Given the description of an element on the screen output the (x, y) to click on. 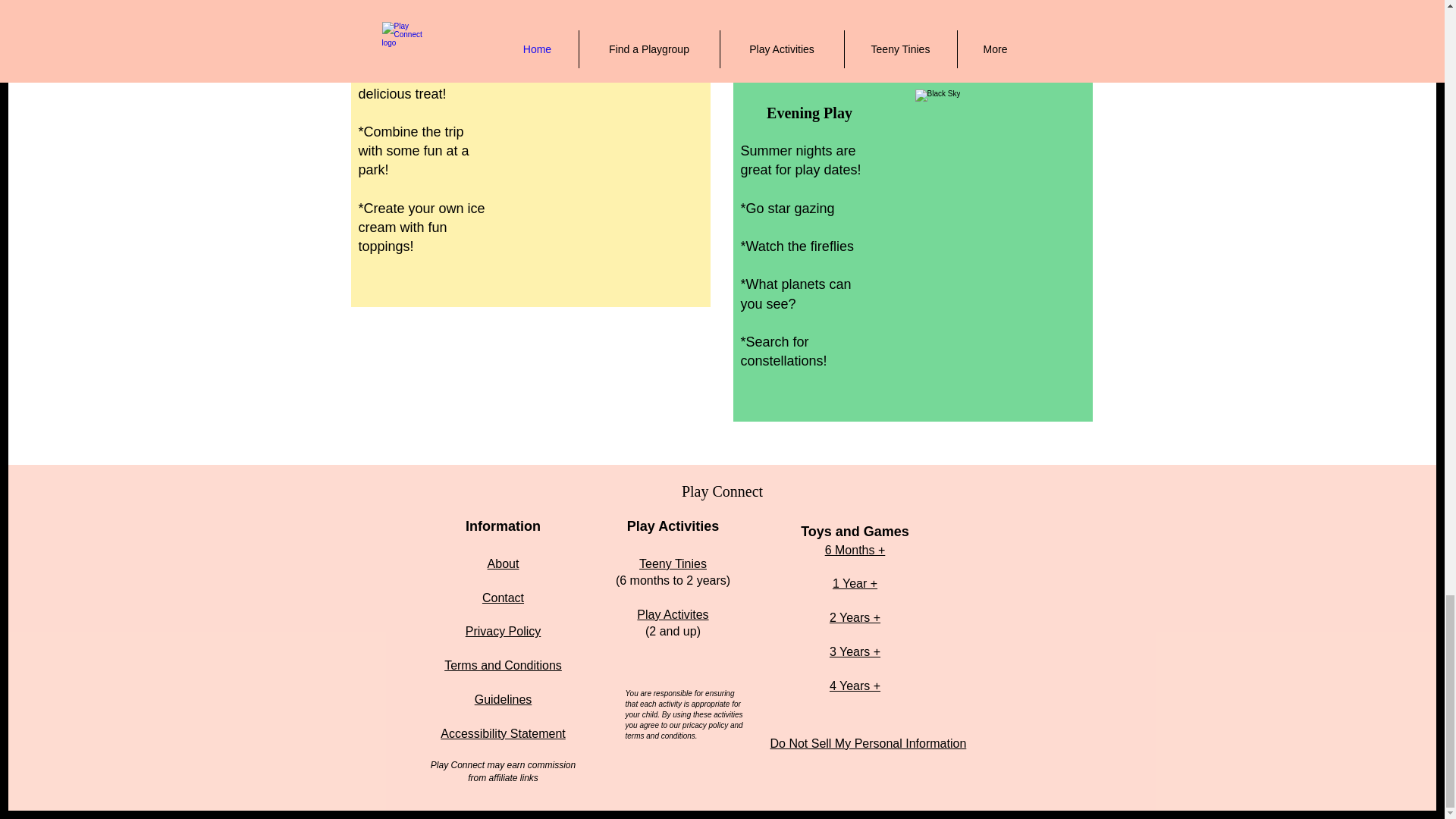
Play Activites (672, 614)
Terms and Conditions (503, 665)
Do Not Sell My Personal Information (868, 742)
About (503, 563)
Guidelines (503, 698)
Accessibility Statement (503, 733)
Privacy Policy (503, 631)
Contact (502, 597)
Teeny Tinies (672, 563)
